Given the description of an element on the screen output the (x, y) to click on. 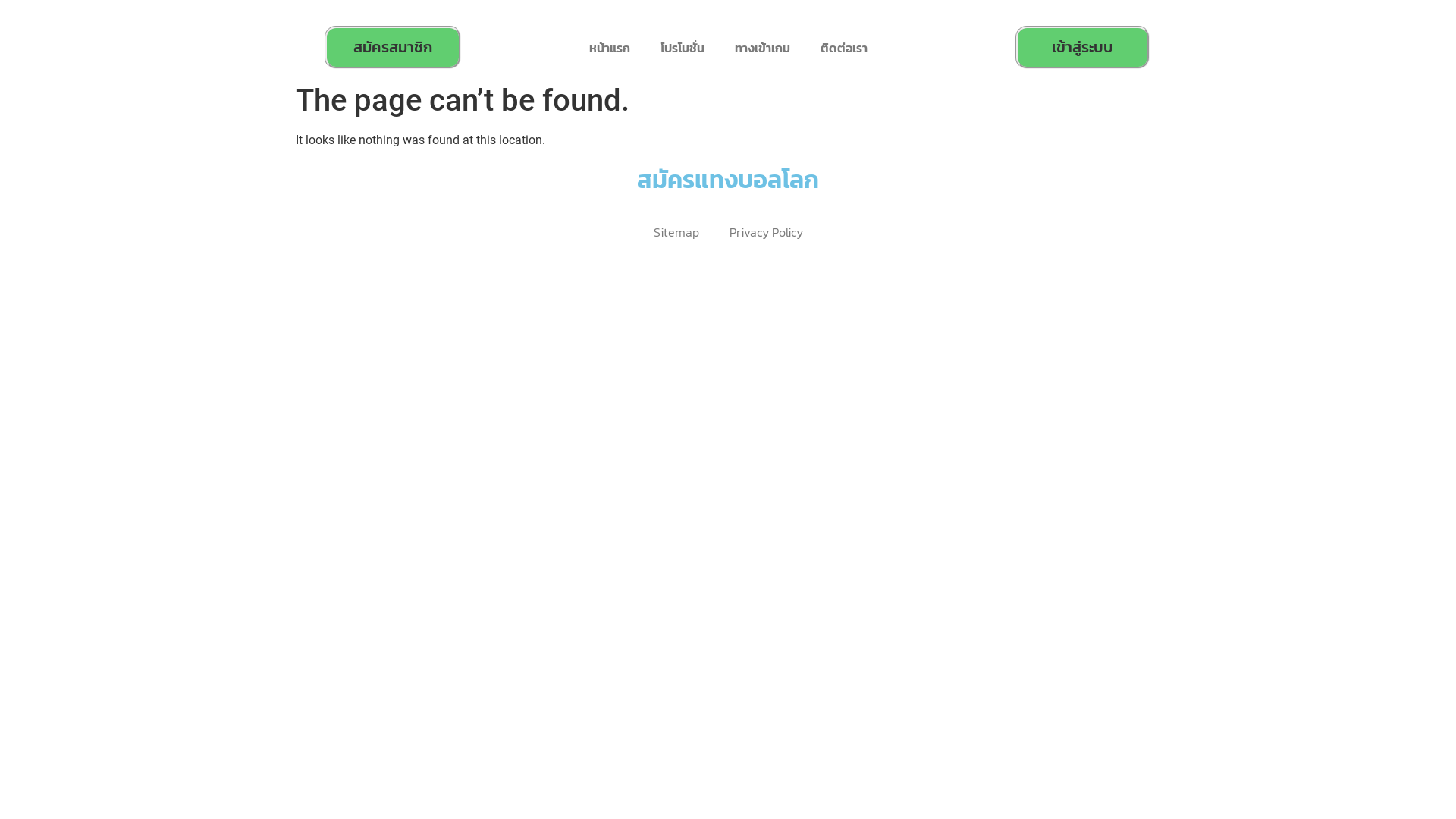
Privacy Policy Element type: text (766, 232)
Sitemap Element type: text (676, 232)
